Given the description of an element on the screen output the (x, y) to click on. 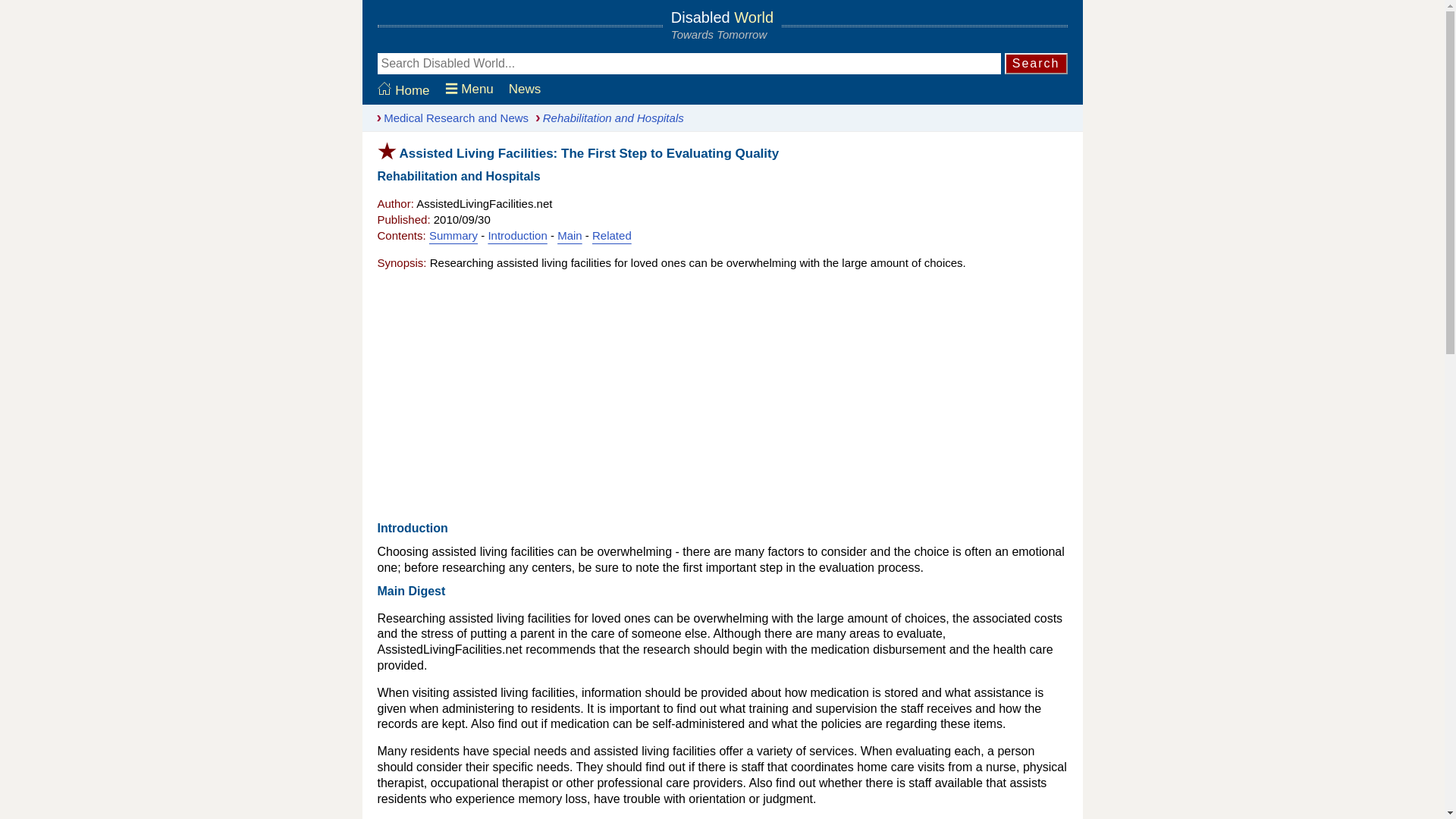
Medical Research and News (449, 117)
News (524, 89)
Main (569, 235)
Home (403, 90)
Go to Rehabilitation and Hospitals (606, 117)
Summary (453, 235)
Introduction (517, 235)
Go to Medical Research and News (449, 117)
Rehabilitation and Hospitals (606, 117)
Related (611, 235)
